Given the description of an element on the screen output the (x, y) to click on. 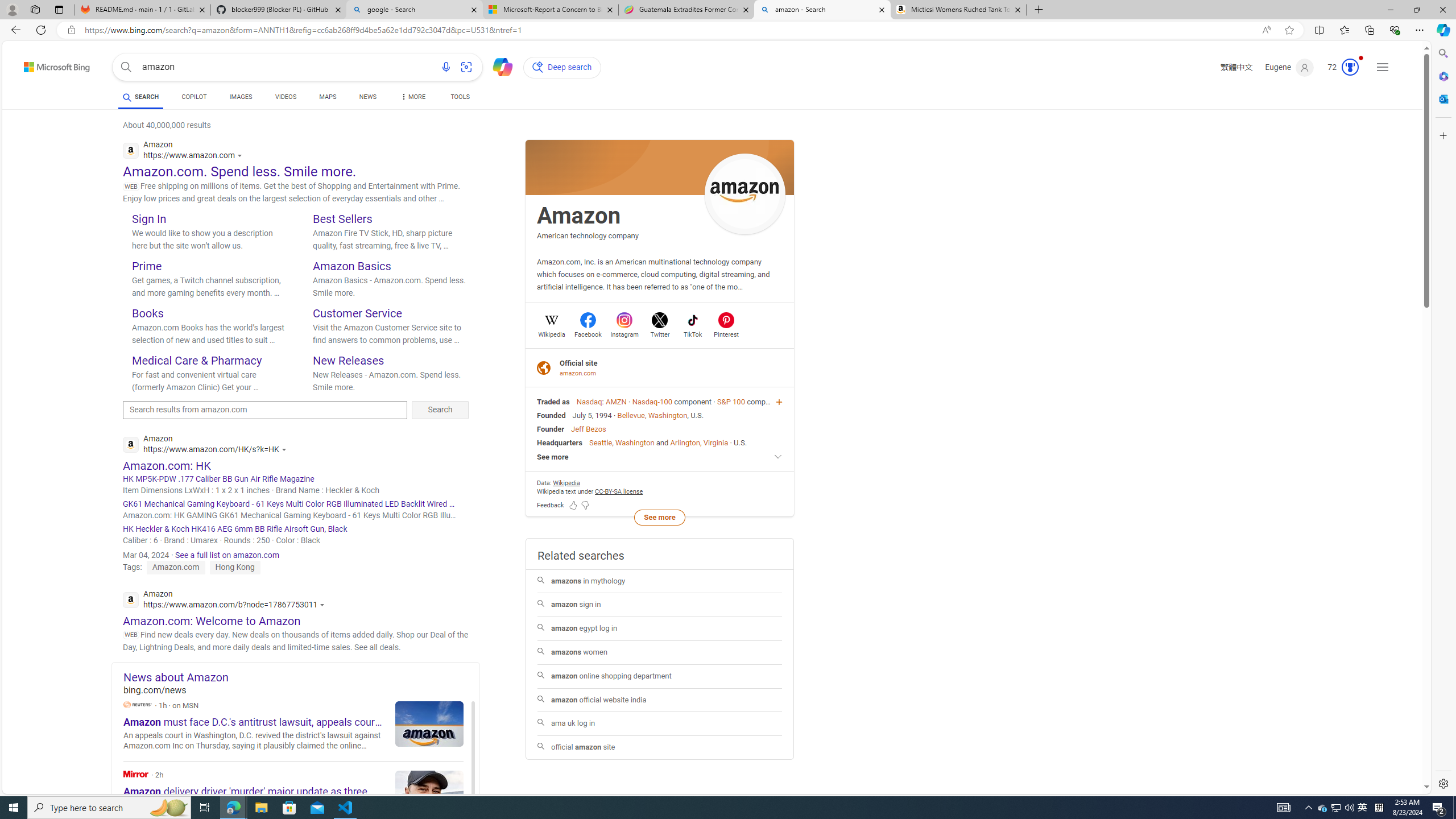
MORE (412, 98)
Books (147, 313)
Feedback Like (573, 504)
Twitter (660, 333)
MAPS (327, 96)
Sign In (148, 218)
S&P 100 (730, 401)
amazons women (659, 652)
HK MP5K-PDW .177 Caliber BB Gun Air Rifle Magazine (295, 478)
Data attribution Wikipedia (566, 482)
amazon online shopping department (659, 676)
